Given the description of an element on the screen output the (x, y) to click on. 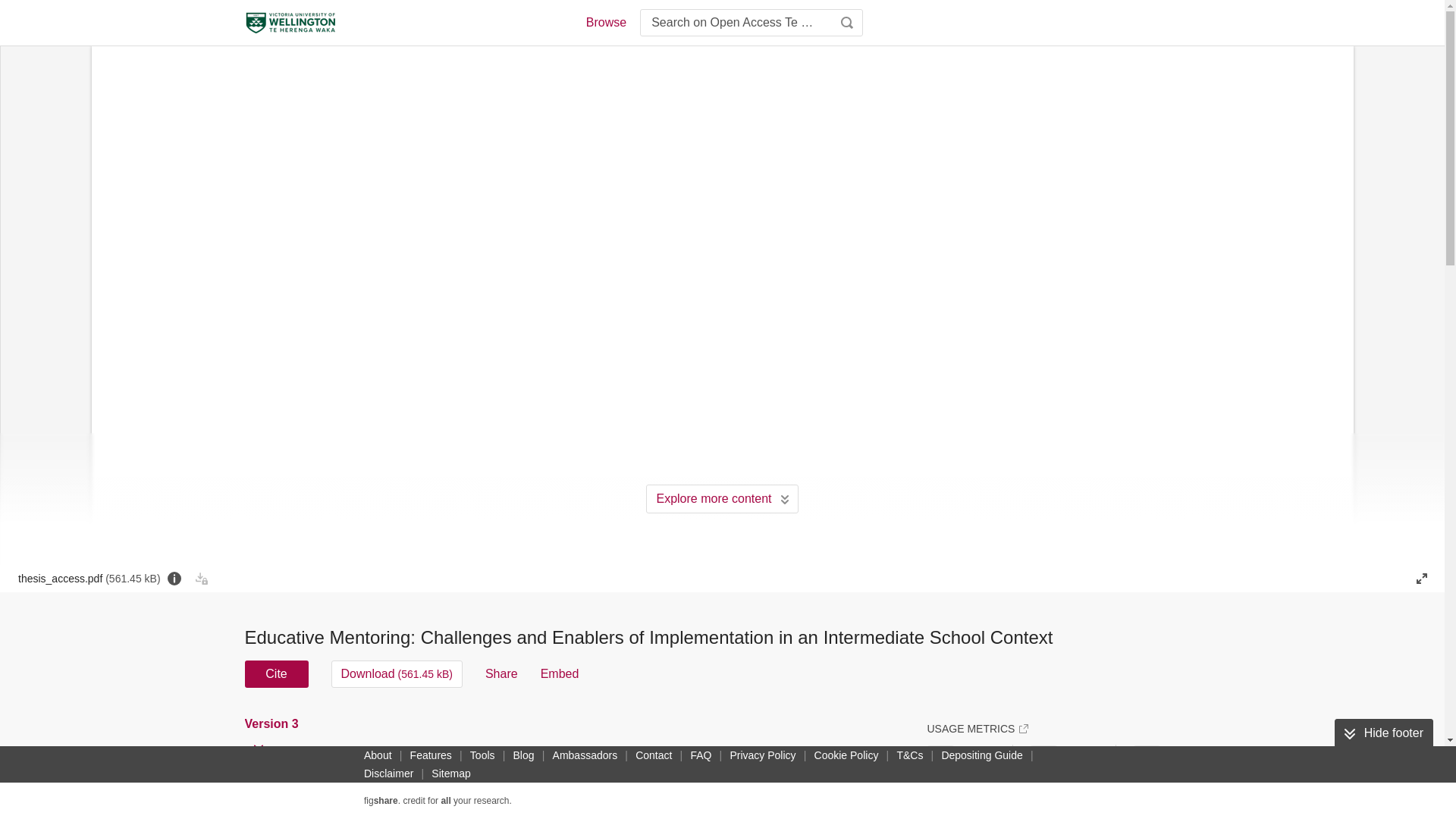
USAGE METRICS (976, 728)
Browse (605, 22)
Version 3 (273, 723)
Embed (559, 673)
Share (501, 673)
Cite (275, 673)
Explore more content (721, 498)
